Given the description of an element on the screen output the (x, y) to click on. 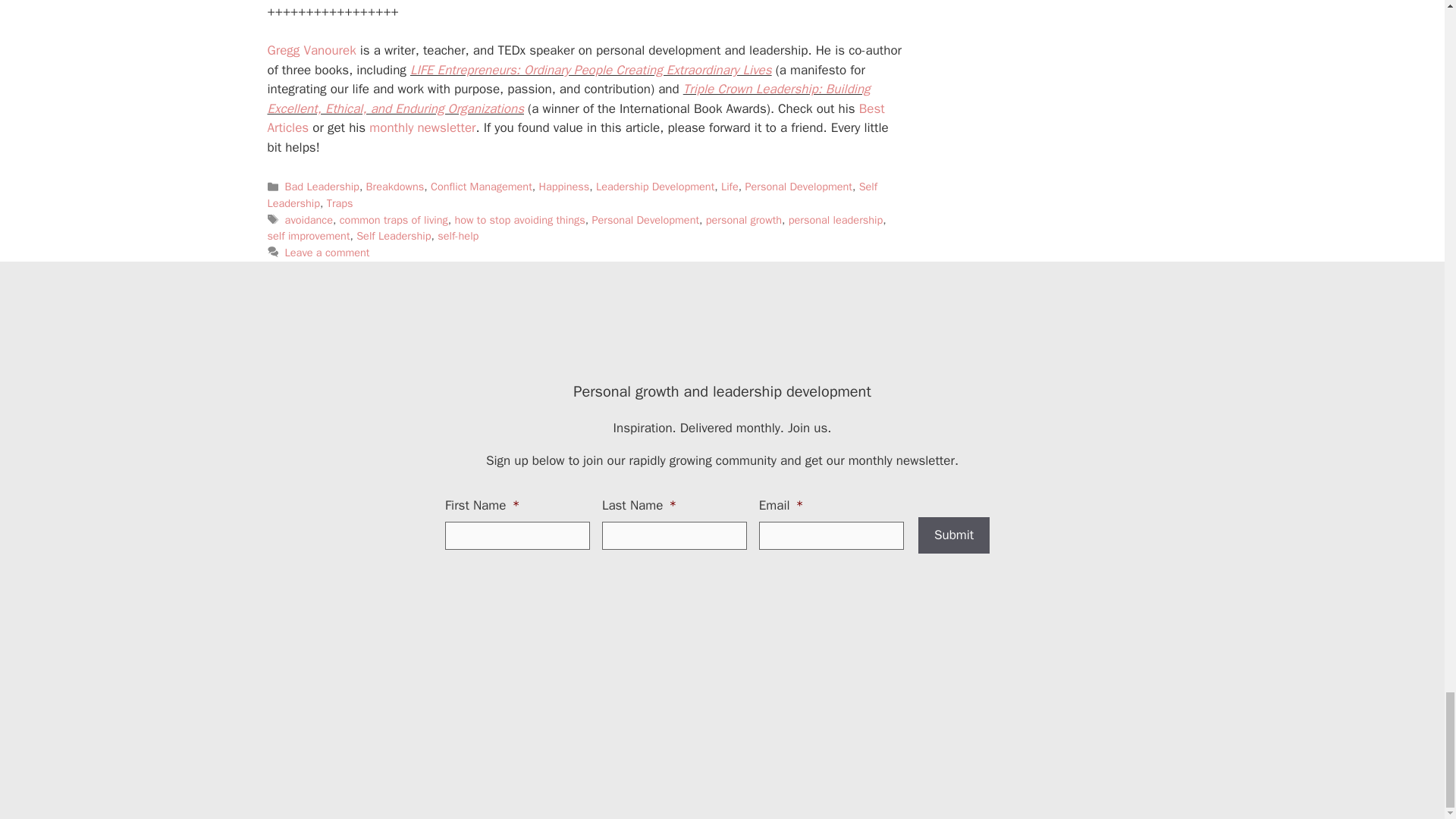
Submit (954, 534)
